Given the description of an element on the screen output the (x, y) to click on. 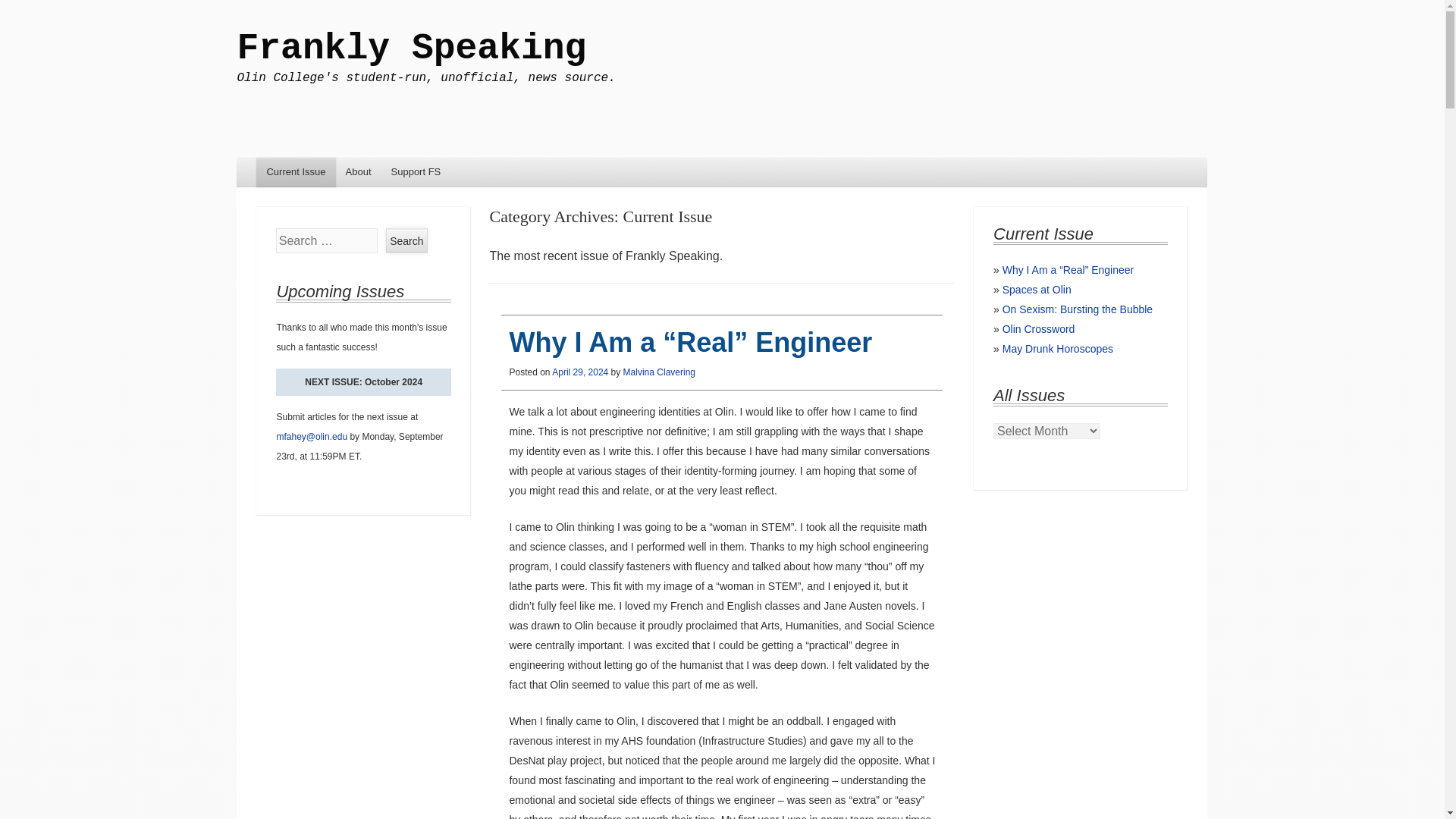
On Sexism: Bursting the Bubble (1078, 309)
Skip to content (278, 172)
Current Issue (295, 172)
View all posts by Malvina Clavering (659, 371)
April 29, 2024 (579, 371)
Olin Crossword (1039, 328)
Support FS (416, 172)
Frankly Speaking (410, 47)
Skip to content (278, 172)
Malvina Clavering (659, 371)
